Given the description of an element on the screen output the (x, y) to click on. 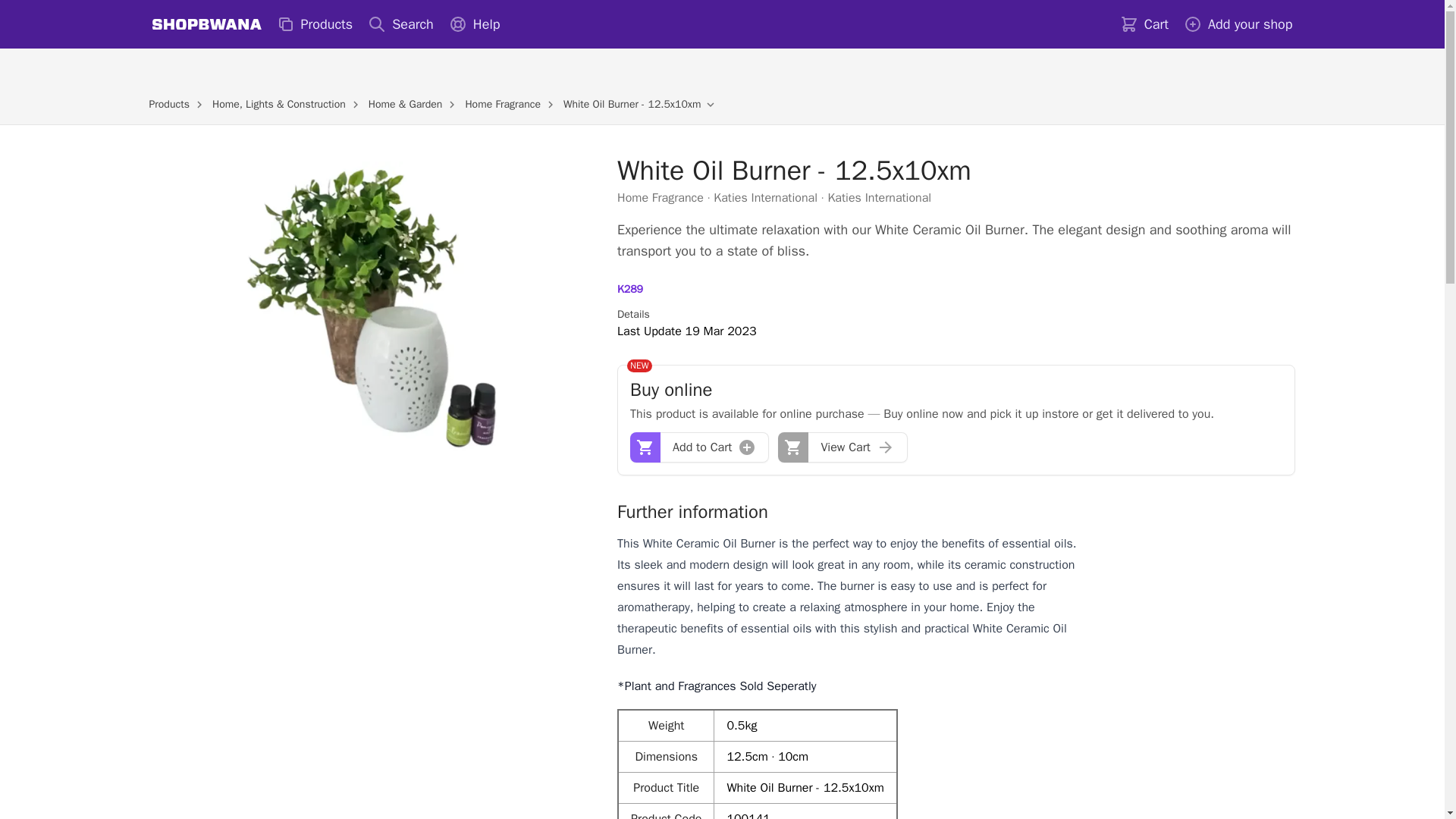
Help (474, 24)
Add to Cart (699, 447)
Cart (1143, 24)
Katies International (764, 197)
View Cart (842, 447)
Search (400, 24)
Home Fragrance (660, 197)
Katies International (879, 197)
Products (168, 103)
Products (313, 24)
Home Fragrance (502, 103)
White Oil Burner - 12.5x10xm (632, 103)
Add your shop (1237, 24)
